Given the description of an element on the screen output the (x, y) to click on. 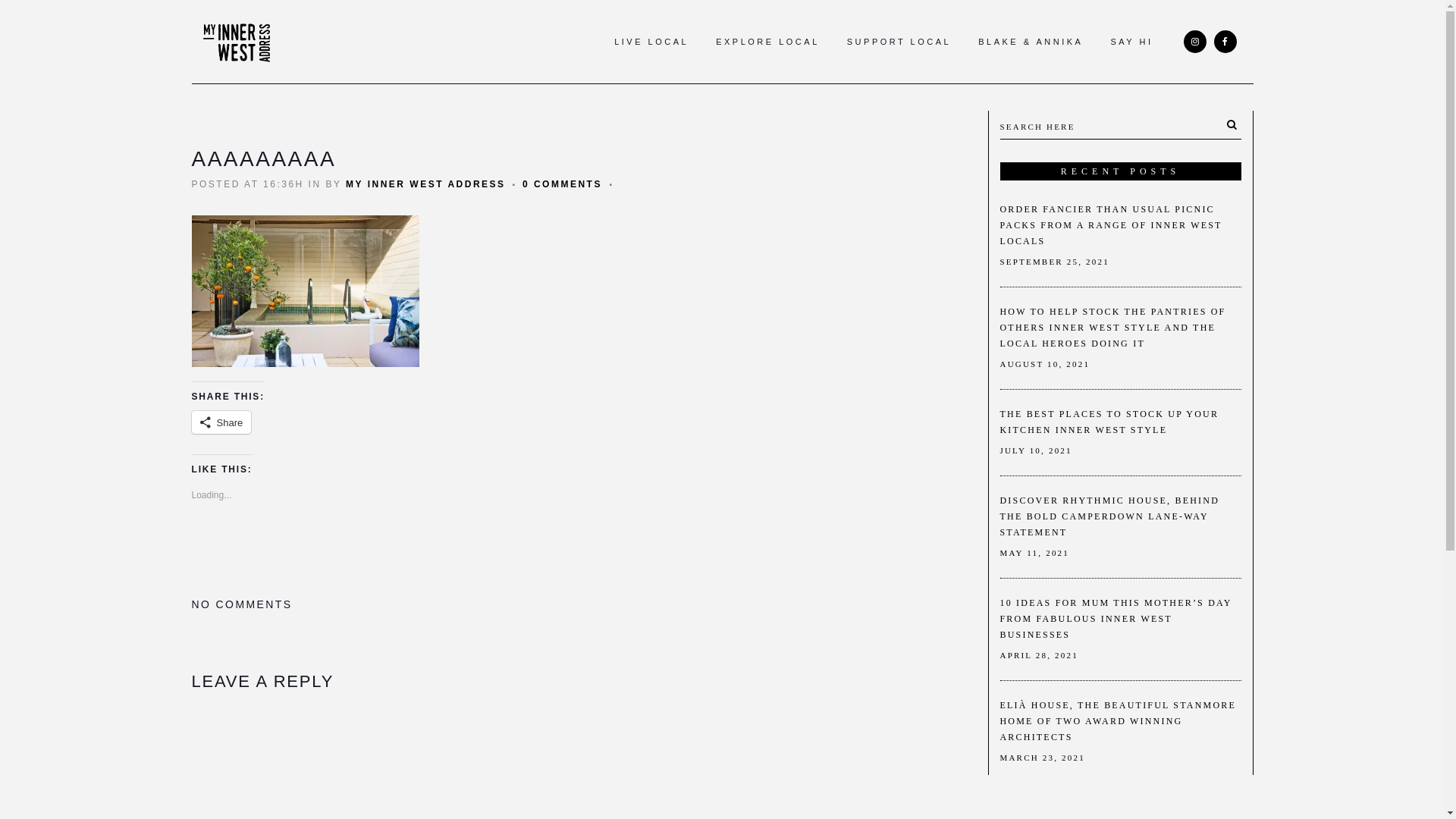
EXPLORE LOCAL Element type: text (767, 41)
THE BEST PLACES TO STOCK UP YOUR KITCHEN INNER WEST STYLE Element type: text (1108, 421)
SAY HI Element type: text (1131, 41)
LIVE LOCAL Element type: text (651, 41)
SUPPORT LOCAL Element type: text (898, 41)
0 COMMENTS Element type: text (562, 183)
MY INNER WEST ADDRESS Element type: text (425, 183)
Share Element type: text (221, 422)
BLAKE & ANNIKA Element type: text (1030, 41)
Like or Reblog Element type: hover (581, 546)
